Given the description of an element on the screen output the (x, y) to click on. 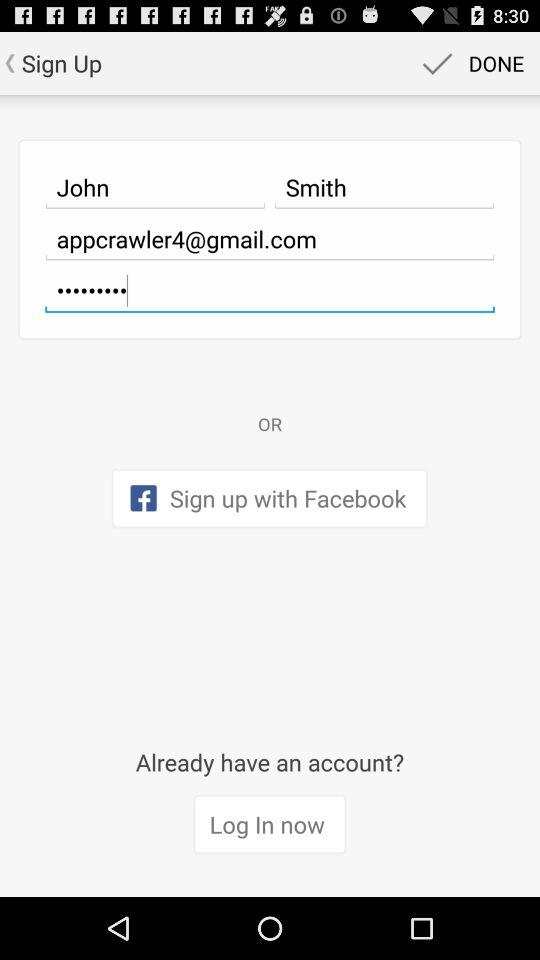
select icon below sign up app (155, 187)
